Given the description of an element on the screen output the (x, y) to click on. 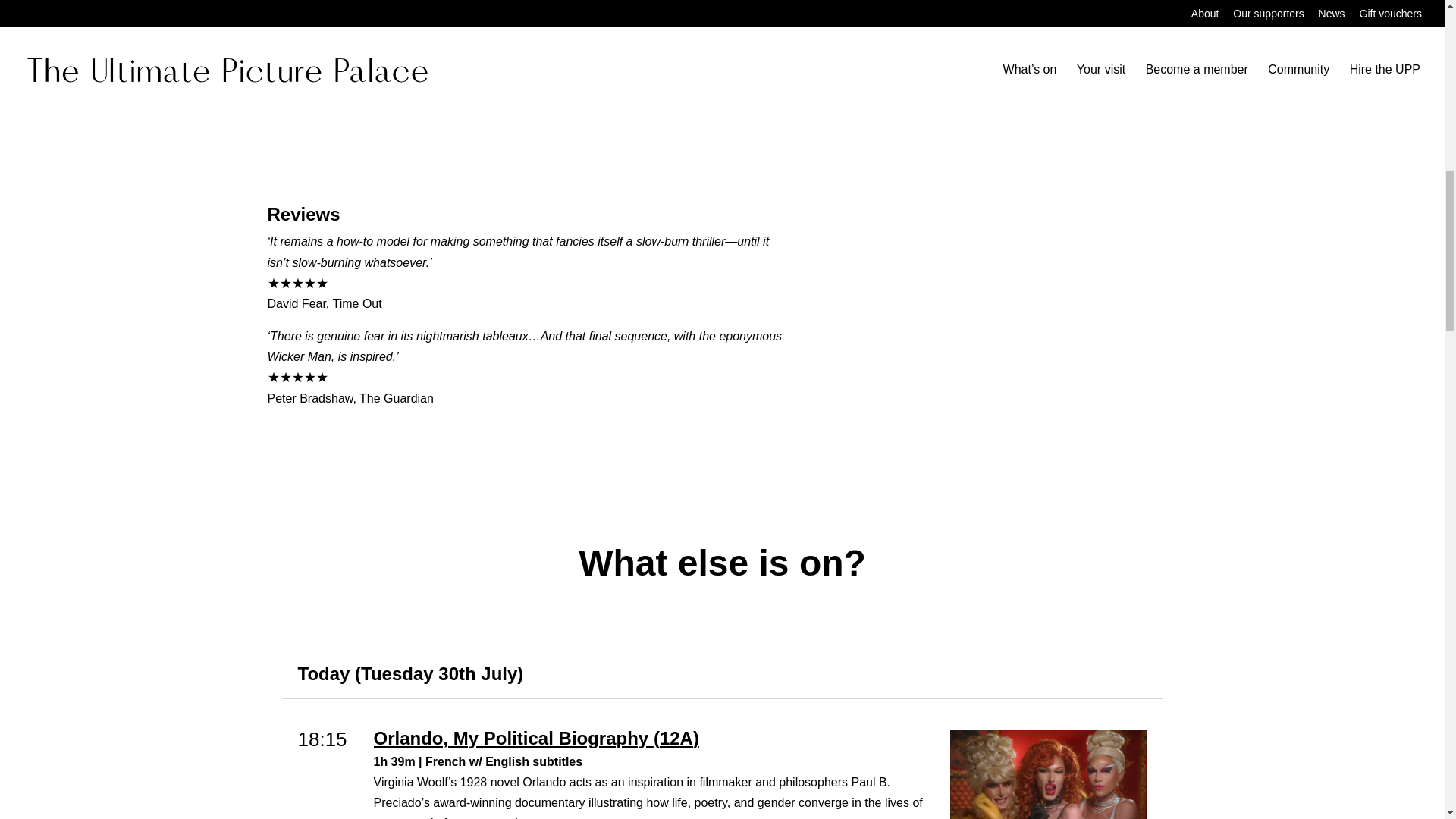
Orlando, My Political Biography 12A (653, 738)
THE WICKER MAN - Official Trailer - Starring Christopher Lee (529, 87)
